Given the description of an element on the screen output the (x, y) to click on. 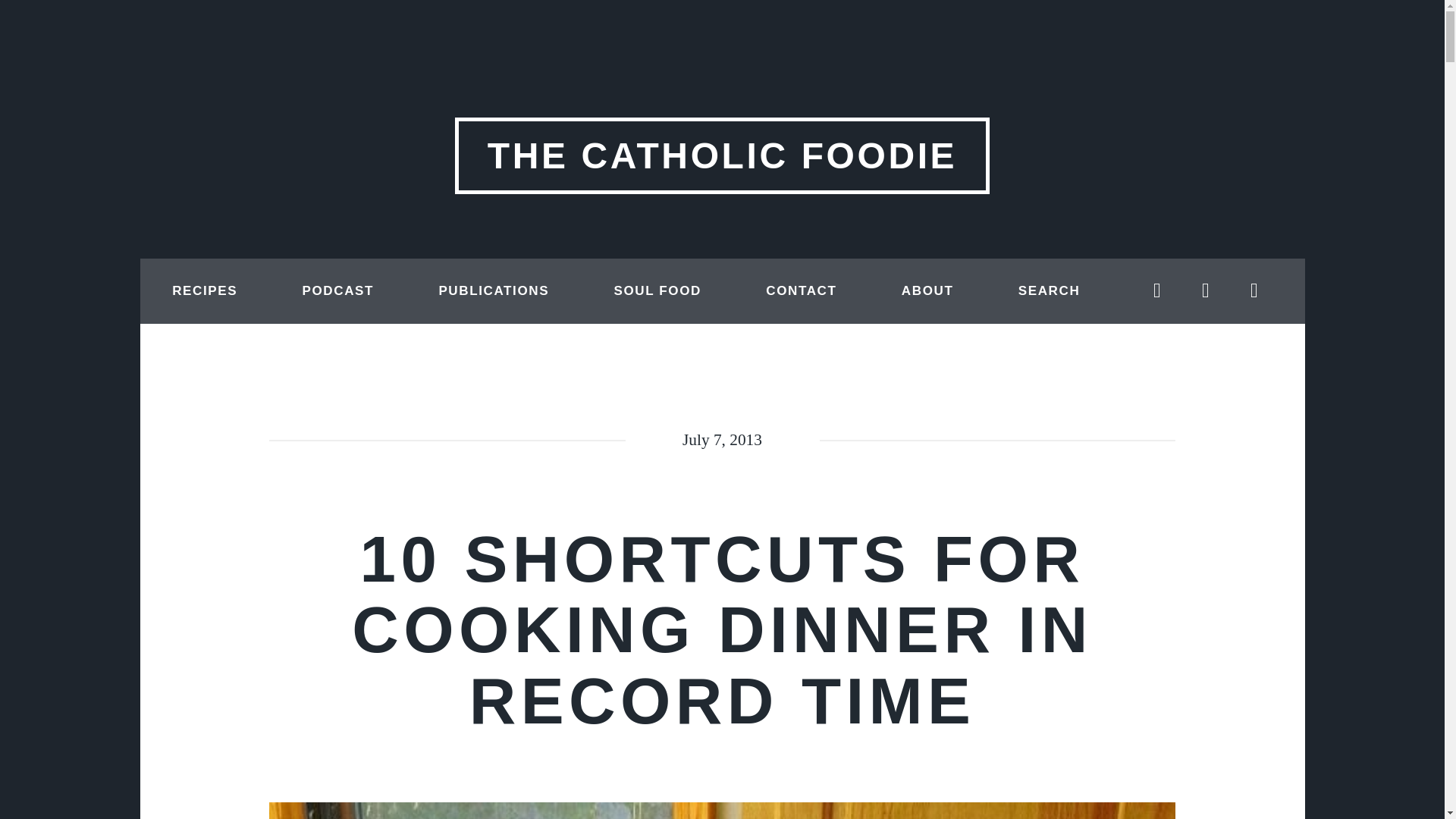
RECIPES (204, 290)
SEARCH (1048, 290)
THE CATHOLIC FOODIE (721, 155)
Twitter (1156, 291)
PUBLICATIONS (493, 290)
SOUL FOOD (656, 290)
CONTACT (801, 290)
PODCAST (337, 290)
Facebook (1206, 291)
ABOUT (927, 290)
